Given the description of an element on the screen output the (x, y) to click on. 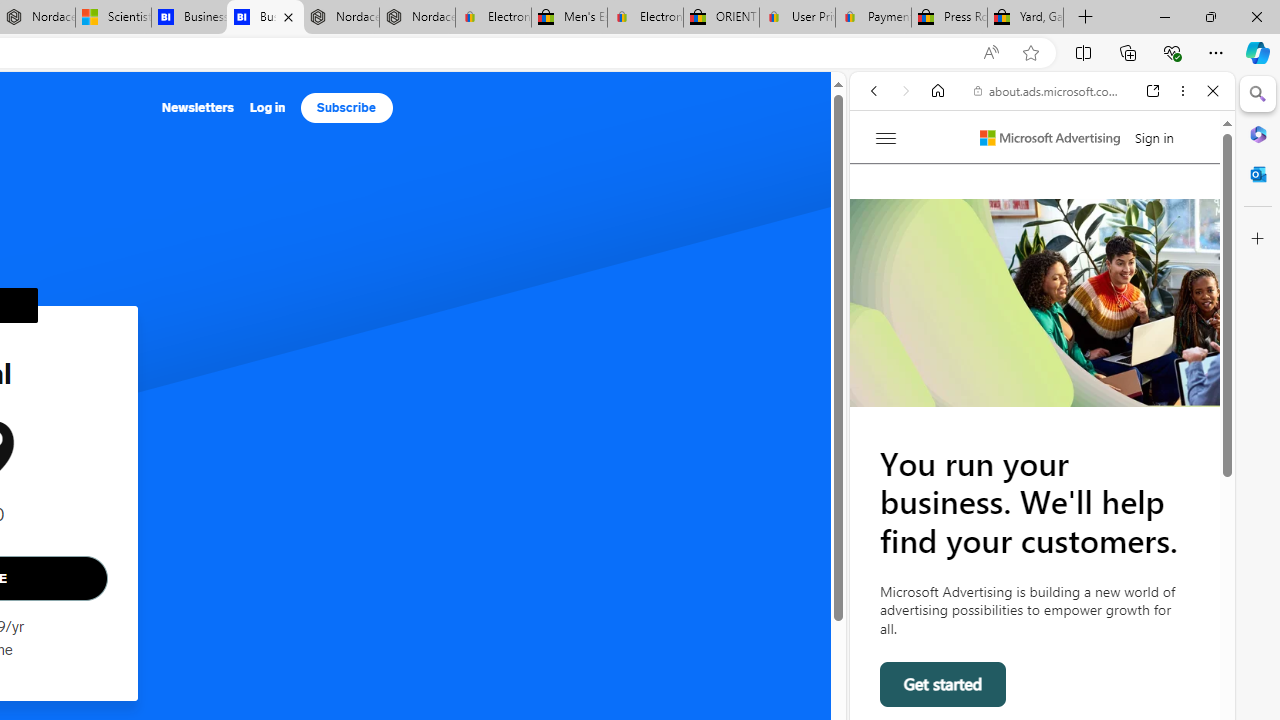
Newsletters (198, 107)
